Given the description of an element on the screen output the (x, y) to click on. 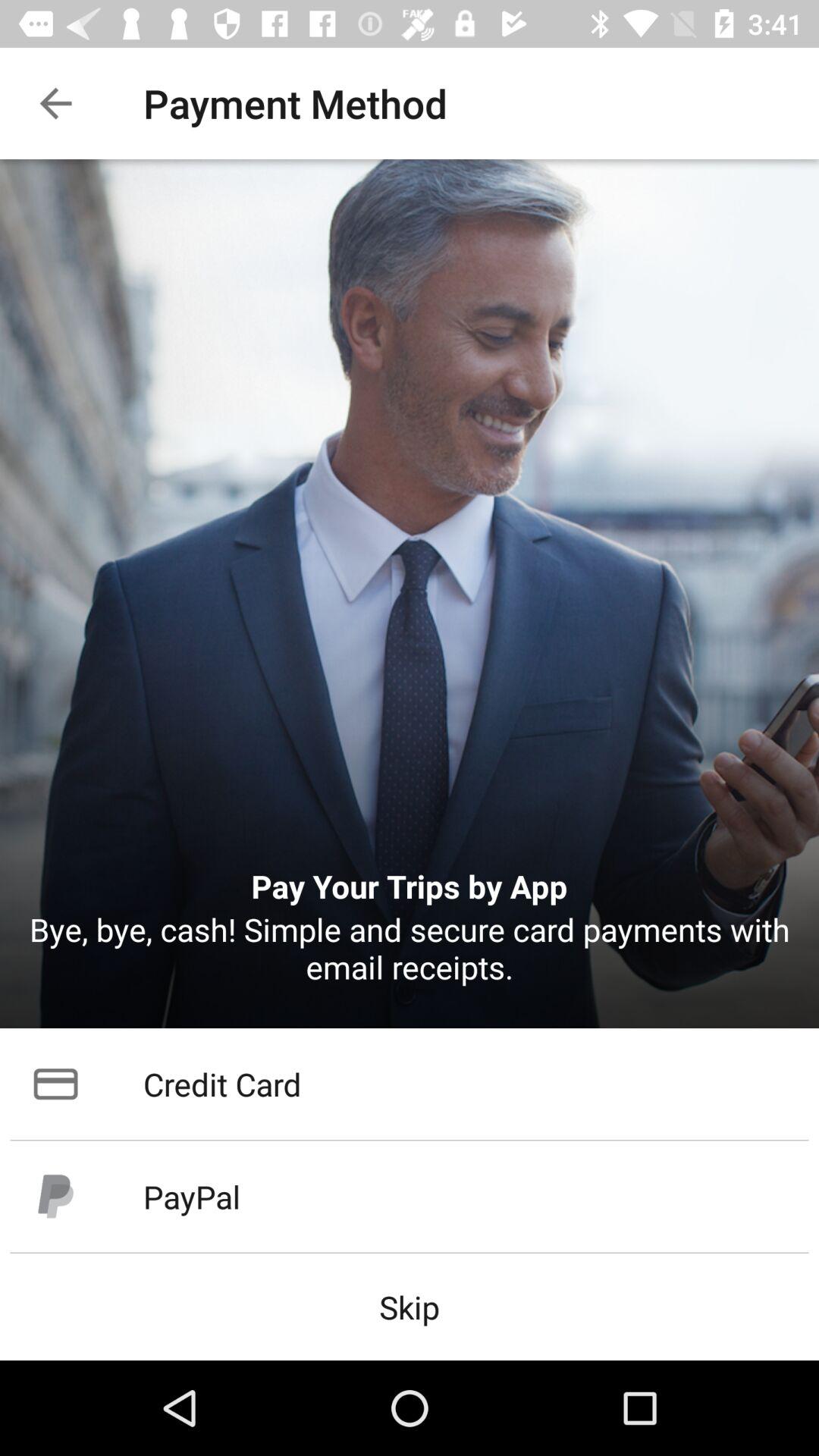
jump to the paypal icon (409, 1196)
